Given the description of an element on the screen output the (x, y) to click on. 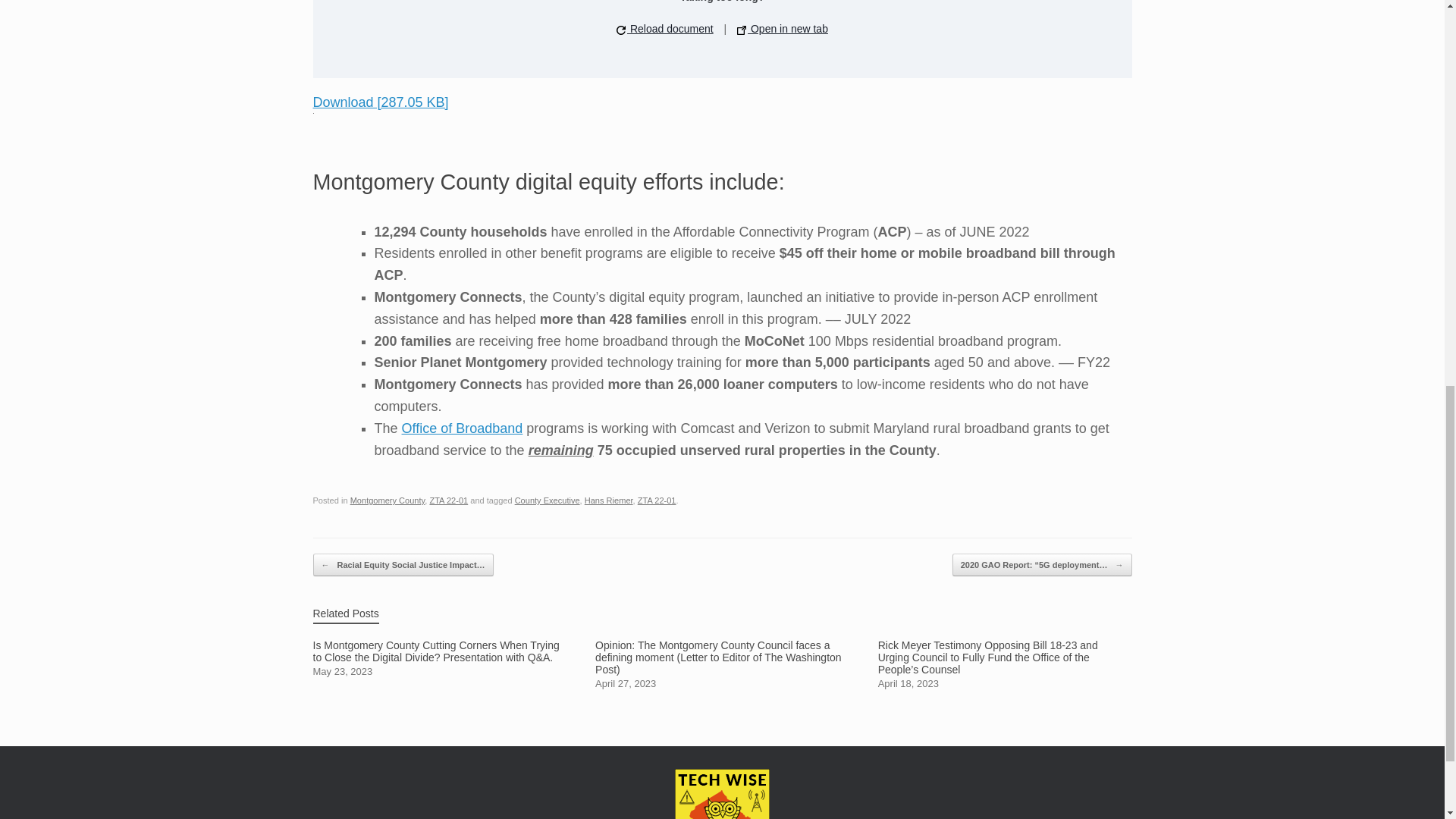
Open in new tab (782, 28)
County Executive (547, 500)
Embedded Document (722, 35)
Montgomery County (387, 500)
Tech-Wise-Montgomery-County-Maryland-logo-125 (722, 794)
ZTA 22-01 (448, 500)
ZTA 22-01 (657, 500)
Hans Riemer (609, 500)
Office of Broadband (461, 427)
